Given the description of an element on the screen output the (x, y) to click on. 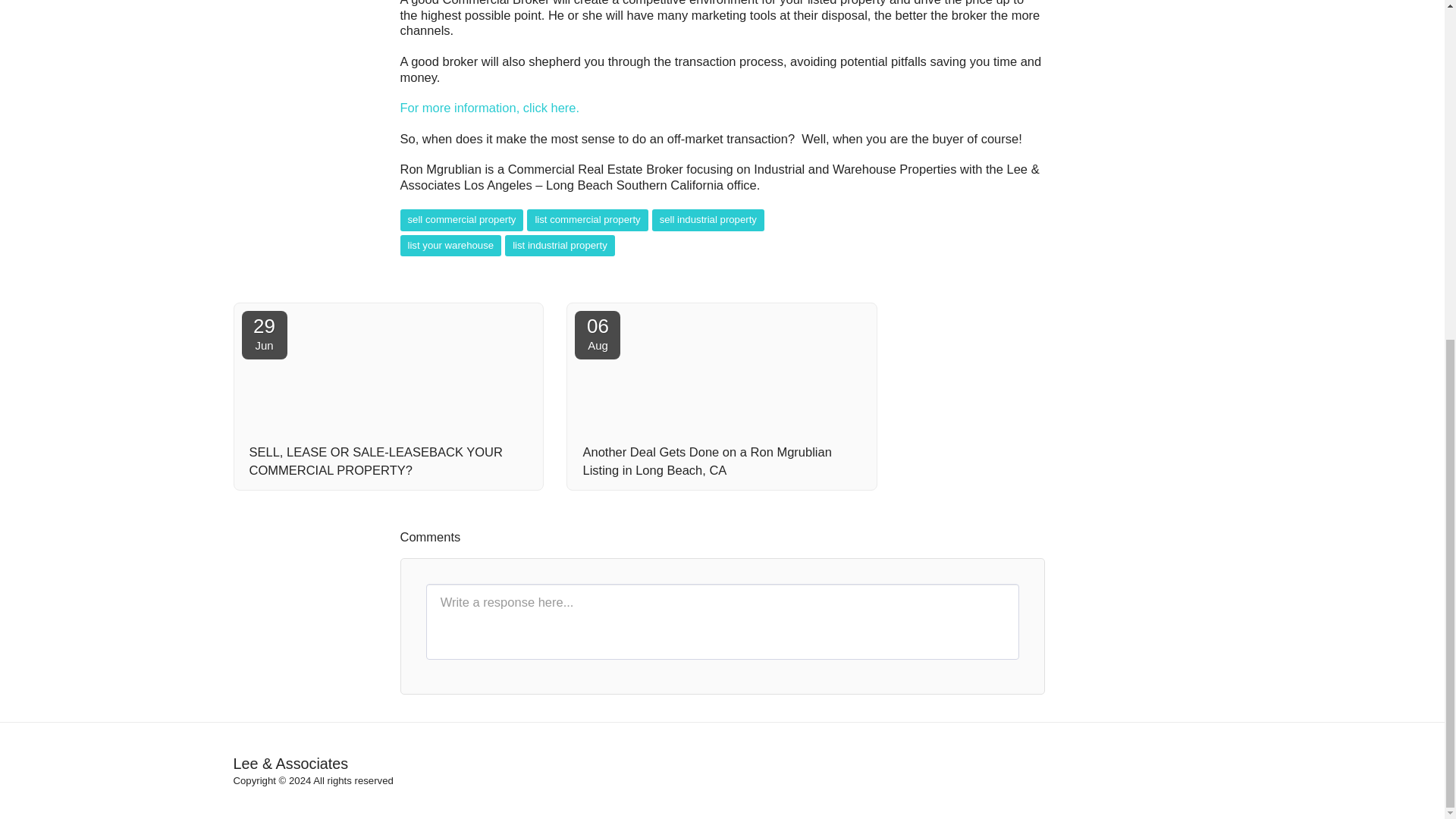
Tweet (973, 267)
RSS (1029, 267)
Pin it (597, 335)
Share on Facebook (263, 335)
SELL, LEASE OR SALE-LEASEBACK YOUR COMMERCIAL PROPERTY? (1002, 267)
For more information, click here. (945, 267)
sell industrial property (387, 461)
list your warehouse (489, 107)
